Given the description of an element on the screen output the (x, y) to click on. 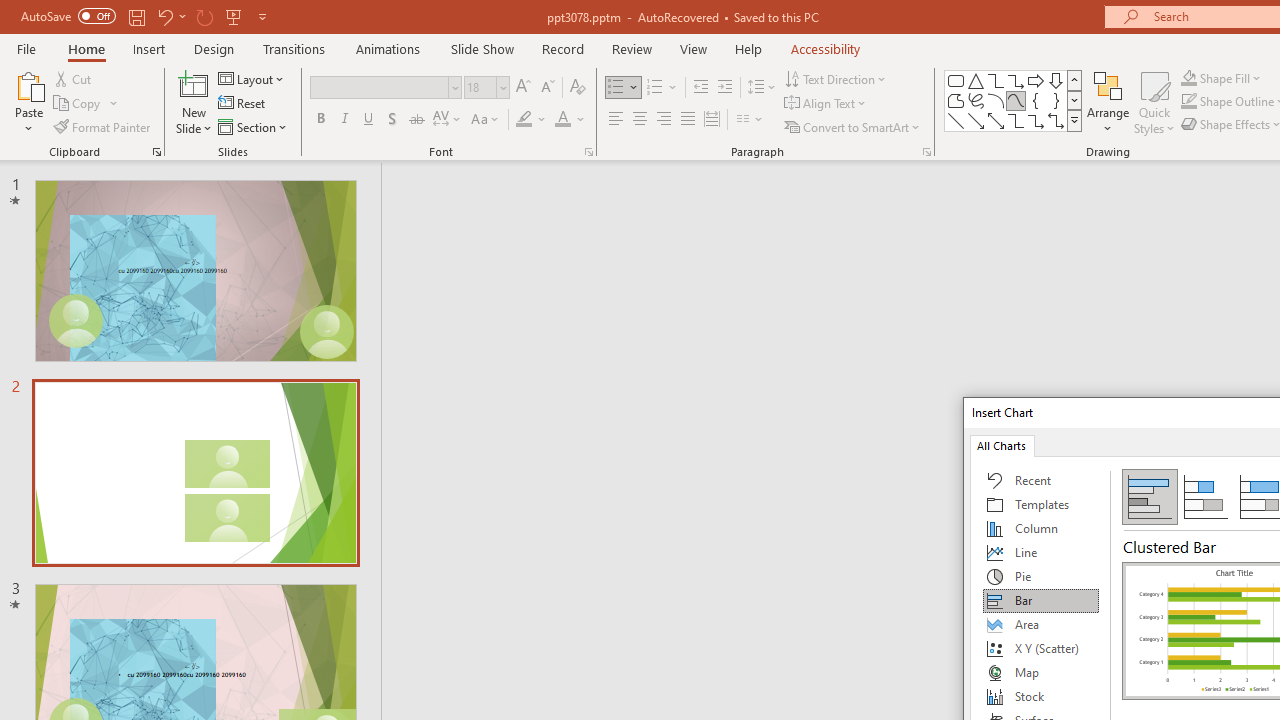
Clear Formatting (577, 87)
Layout (252, 78)
Paragraph... (926, 151)
Bar (1041, 600)
All Charts (1001, 444)
Justify (687, 119)
Right Brace (1055, 100)
